Given the description of an element on the screen output the (x, y) to click on. 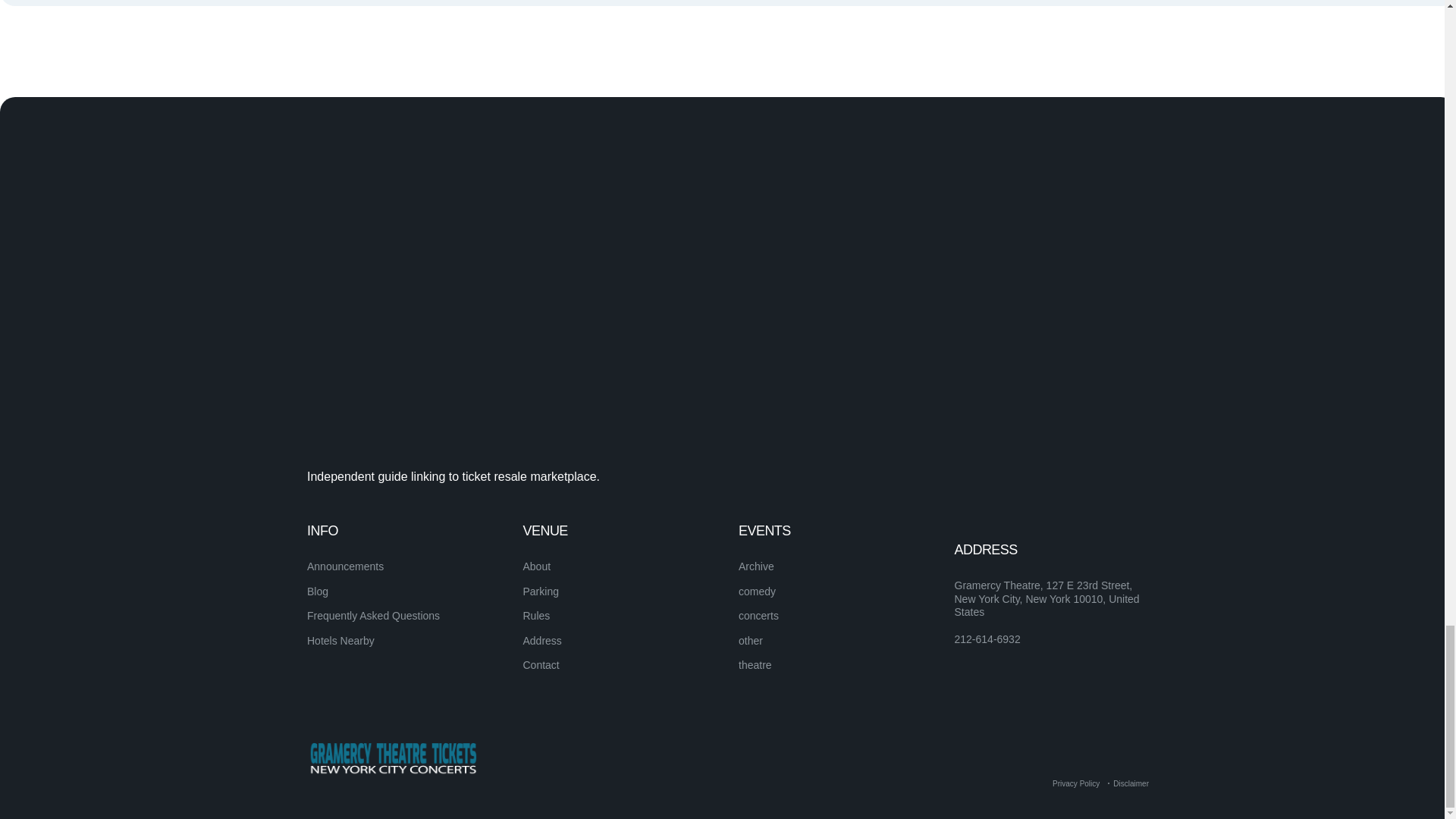
212-614-6932 (986, 640)
Rules (536, 615)
Hotels Nearby (340, 640)
SUBSCRIBE (1095, 559)
other (750, 640)
Contact (540, 664)
theatre (754, 664)
About (536, 566)
Frequently Asked Questions (373, 615)
Privacy Policy (1075, 783)
comedy (757, 591)
Parking (540, 591)
concerts (758, 615)
Disclaimer (1130, 783)
Archive (756, 566)
